Given the description of an element on the screen output the (x, y) to click on. 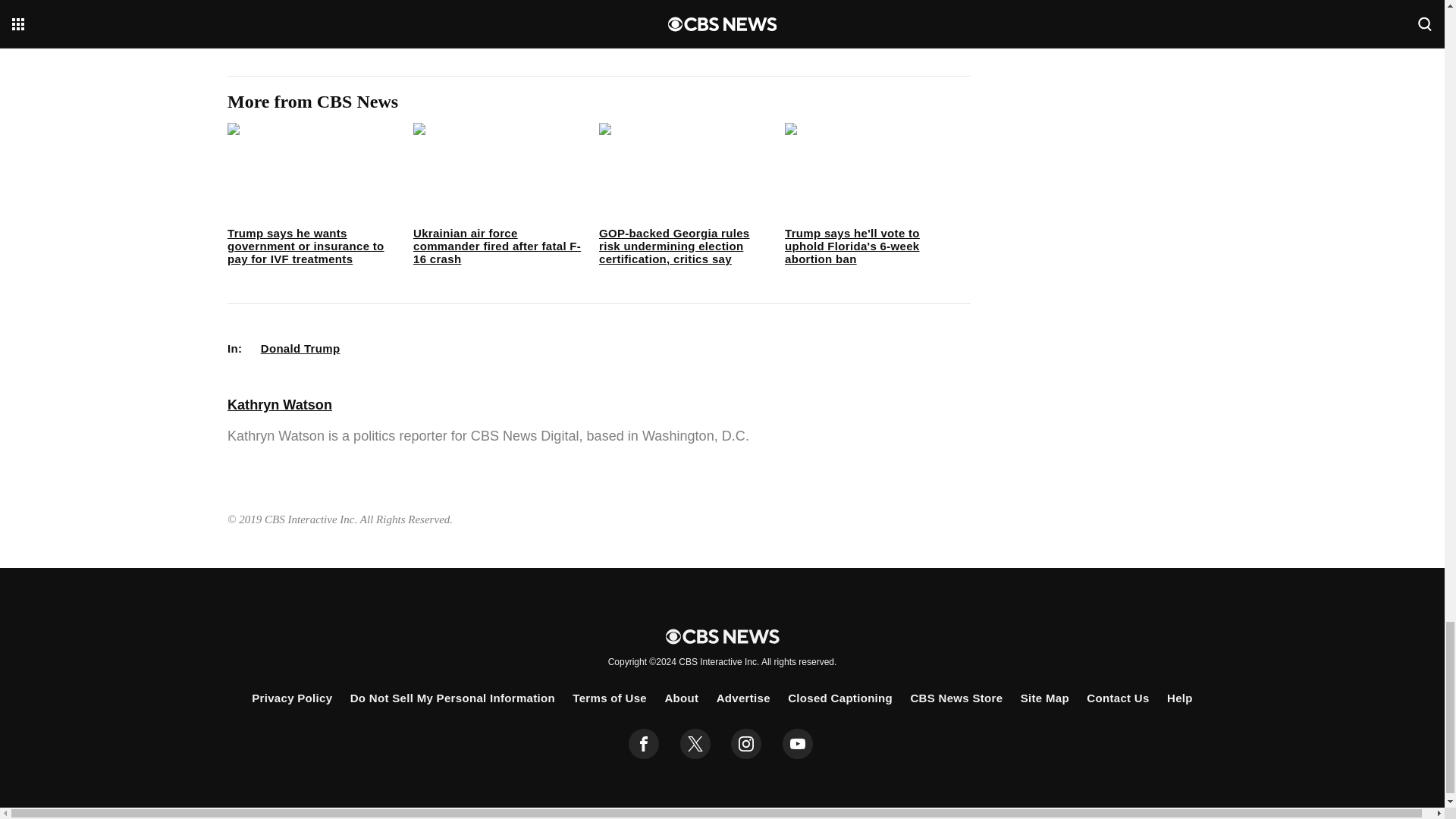
facebook (643, 743)
instagram (745, 743)
youtube (797, 743)
twitter (694, 743)
